Given the description of an element on the screen output the (x, y) to click on. 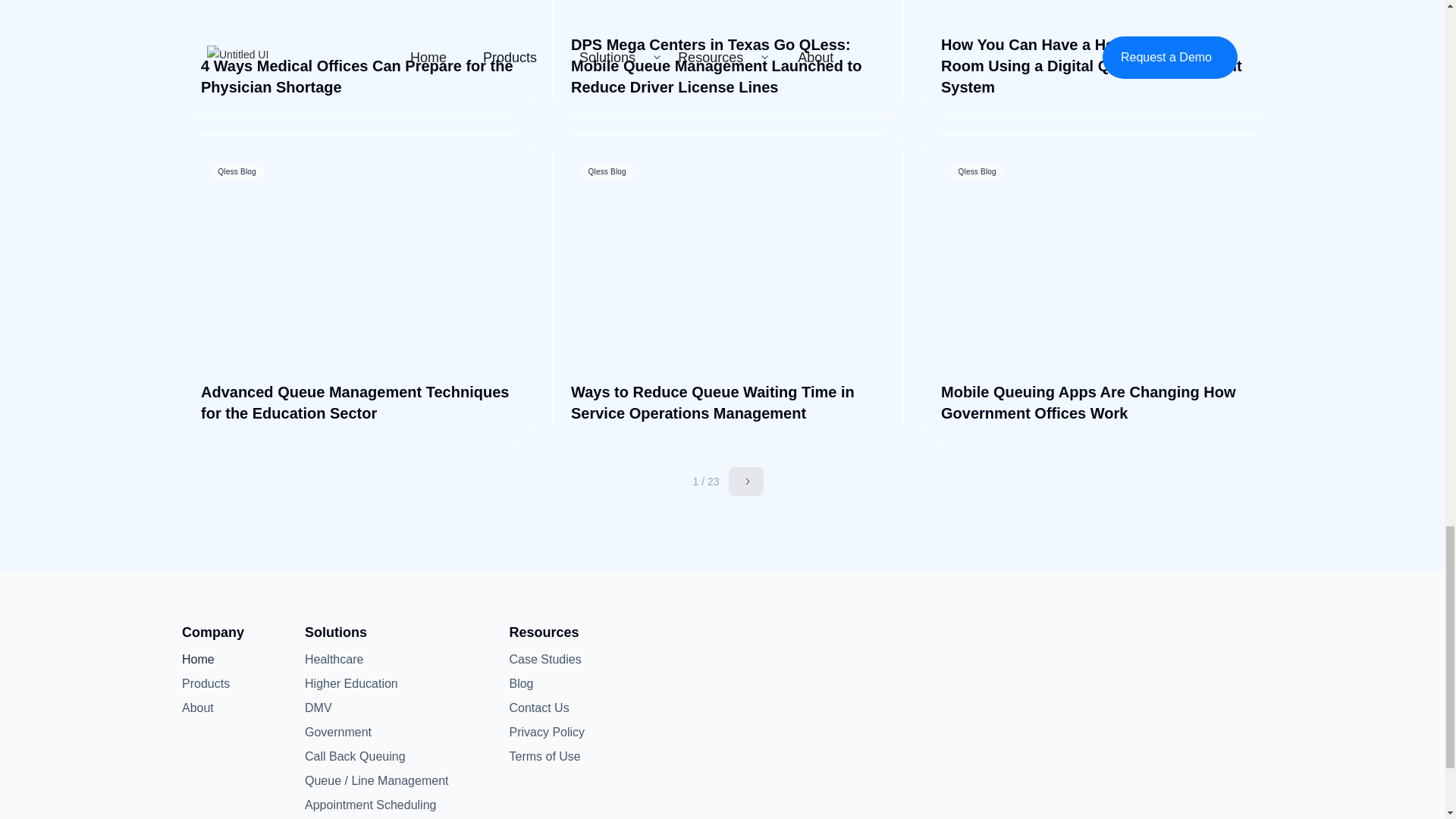
Qless Blog (357, 263)
Qless Blog (357, 13)
Qless Blog (1097, 13)
Healthcare (333, 659)
Qless Blog (1097, 263)
Higher Education (350, 683)
Home (206, 659)
Products (206, 683)
About (206, 708)
Qless Blog (727, 13)
